Given the description of an element on the screen output the (x, y) to click on. 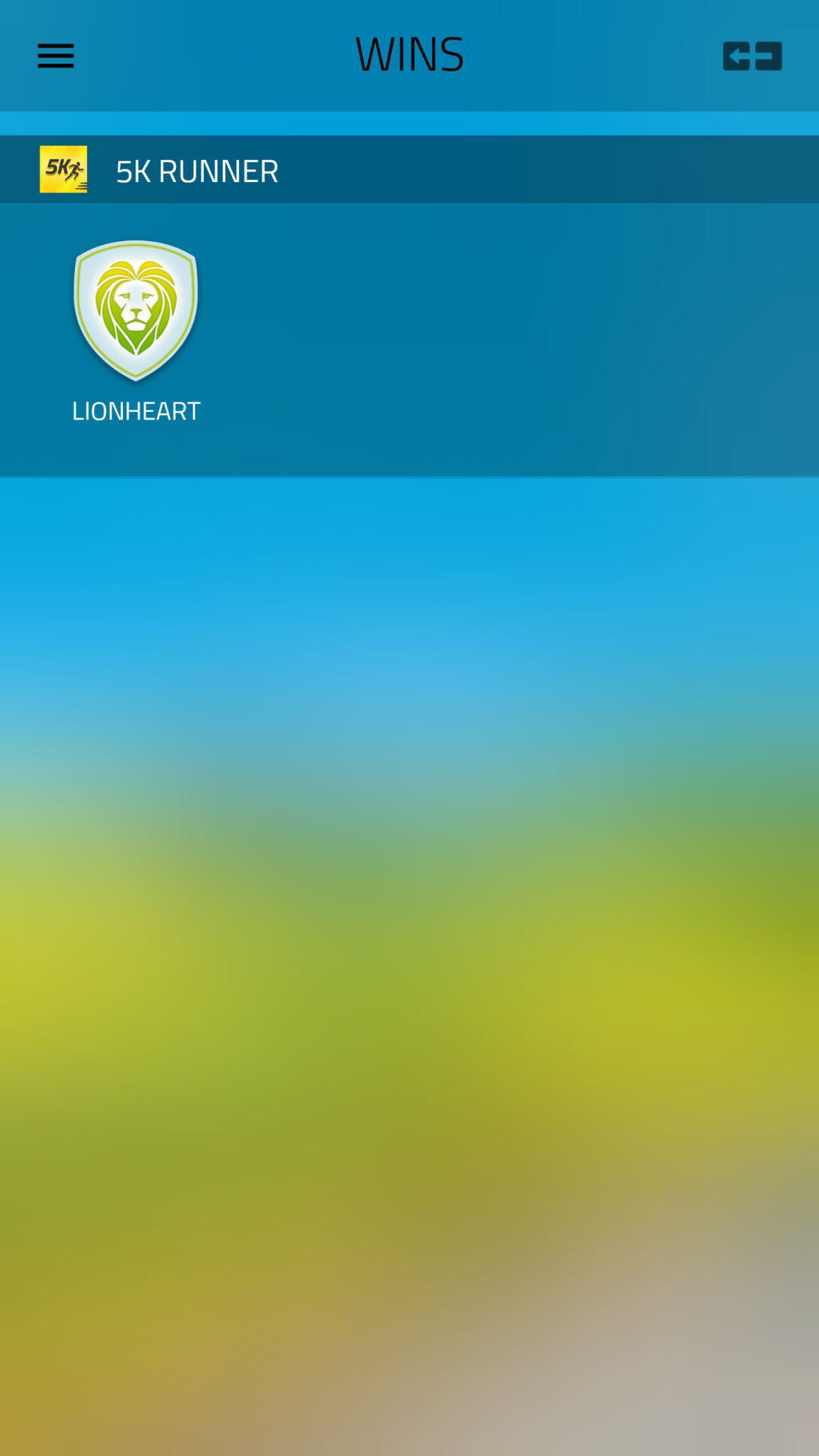
open menu (61, 55)
